Given the description of an element on the screen output the (x, y) to click on. 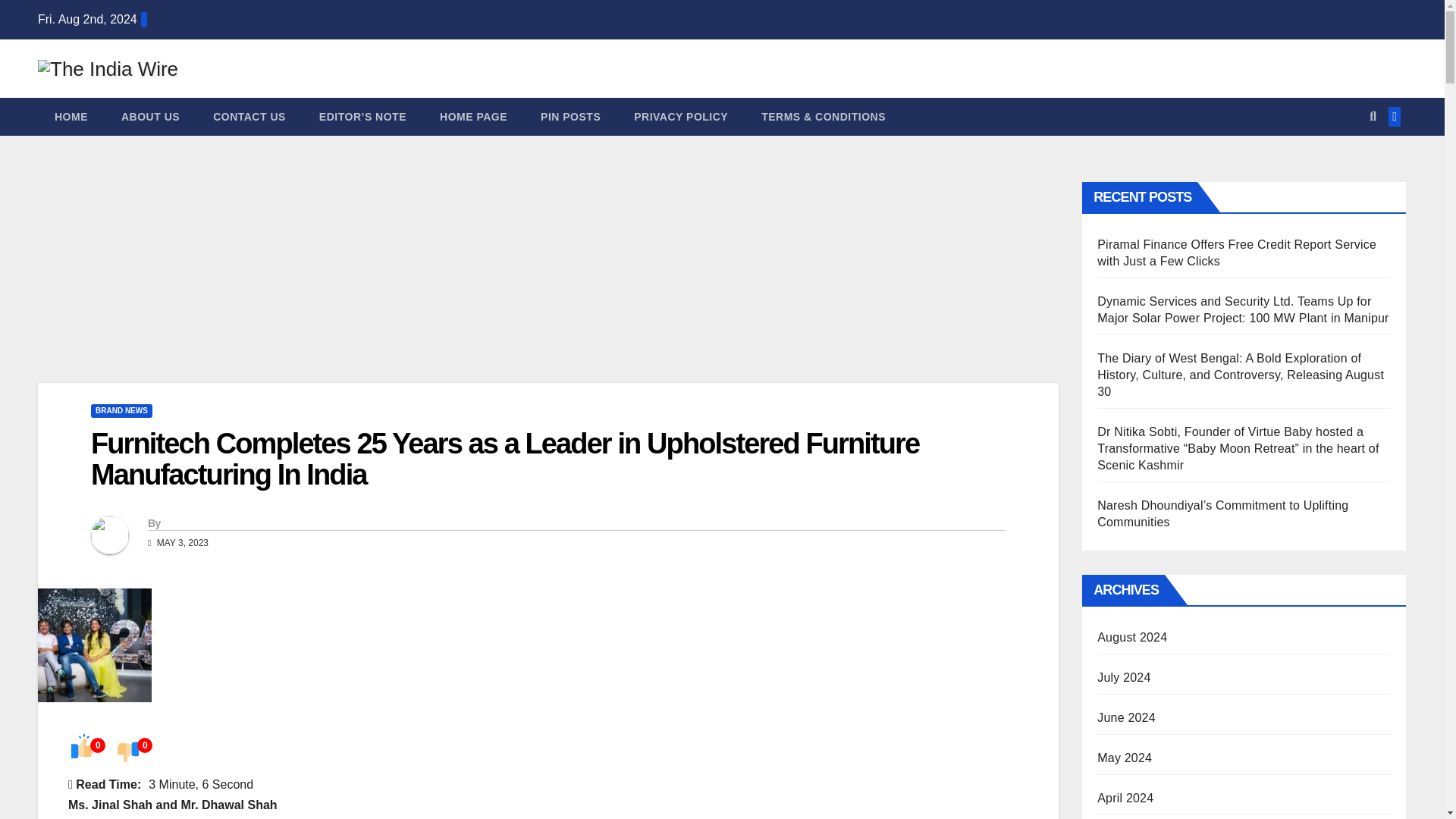
CONTACT US (249, 116)
HOME PAGE (473, 116)
PIN POSTS (570, 116)
HOME (70, 116)
ABOUT US (150, 116)
Home (70, 116)
BRAND NEWS (121, 410)
PRIVACY POLICY (680, 116)
